Given the description of an element on the screen output the (x, y) to click on. 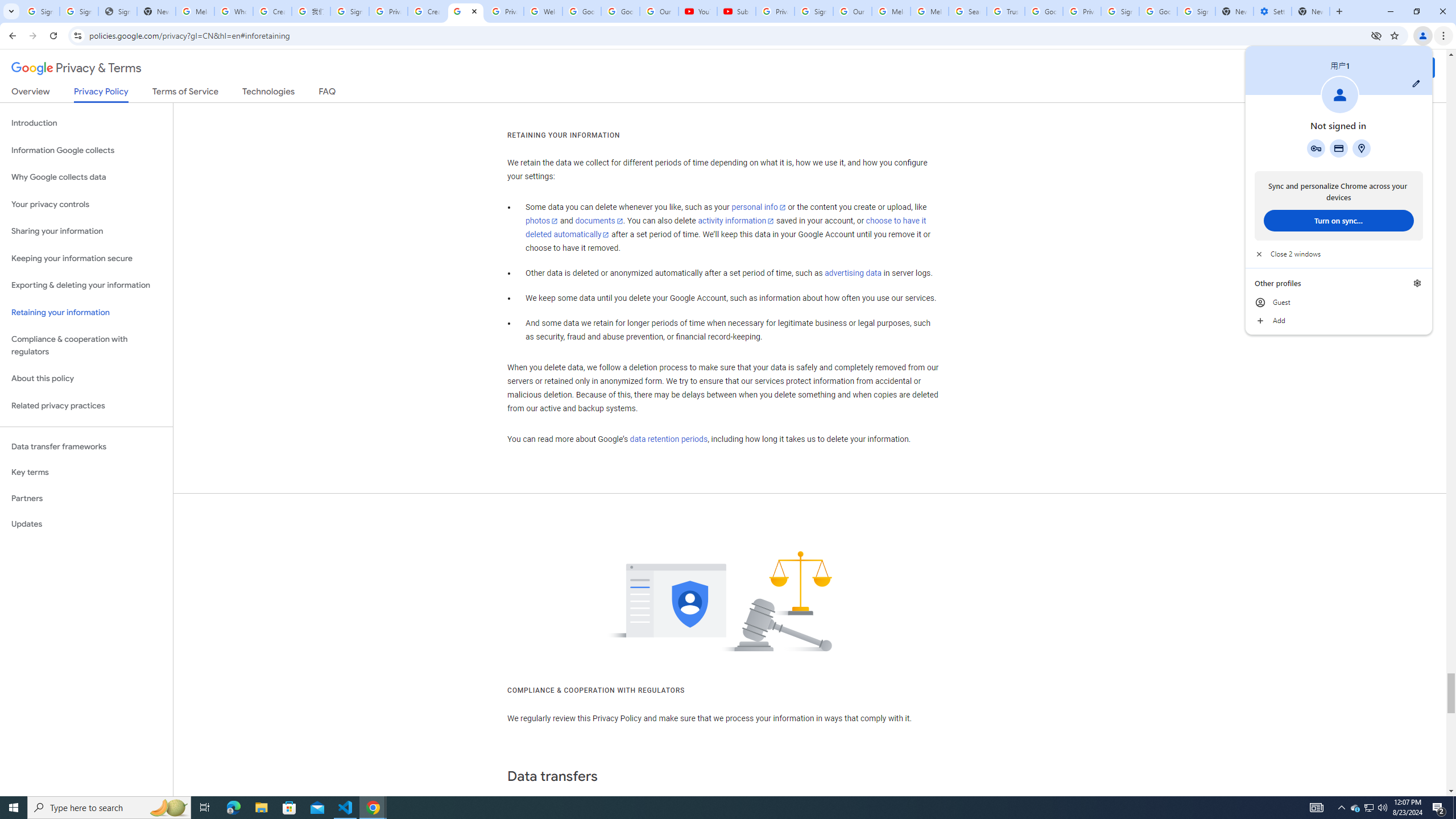
Microsoft Store (1368, 807)
Guest (289, 807)
Type here to search (1338, 302)
Who is my administrator? - Google Account Help (1355, 807)
advertising data (108, 807)
Addresses and more (233, 11)
Settings - Addresses and more (852, 273)
